Given the description of an element on the screen output the (x, y) to click on. 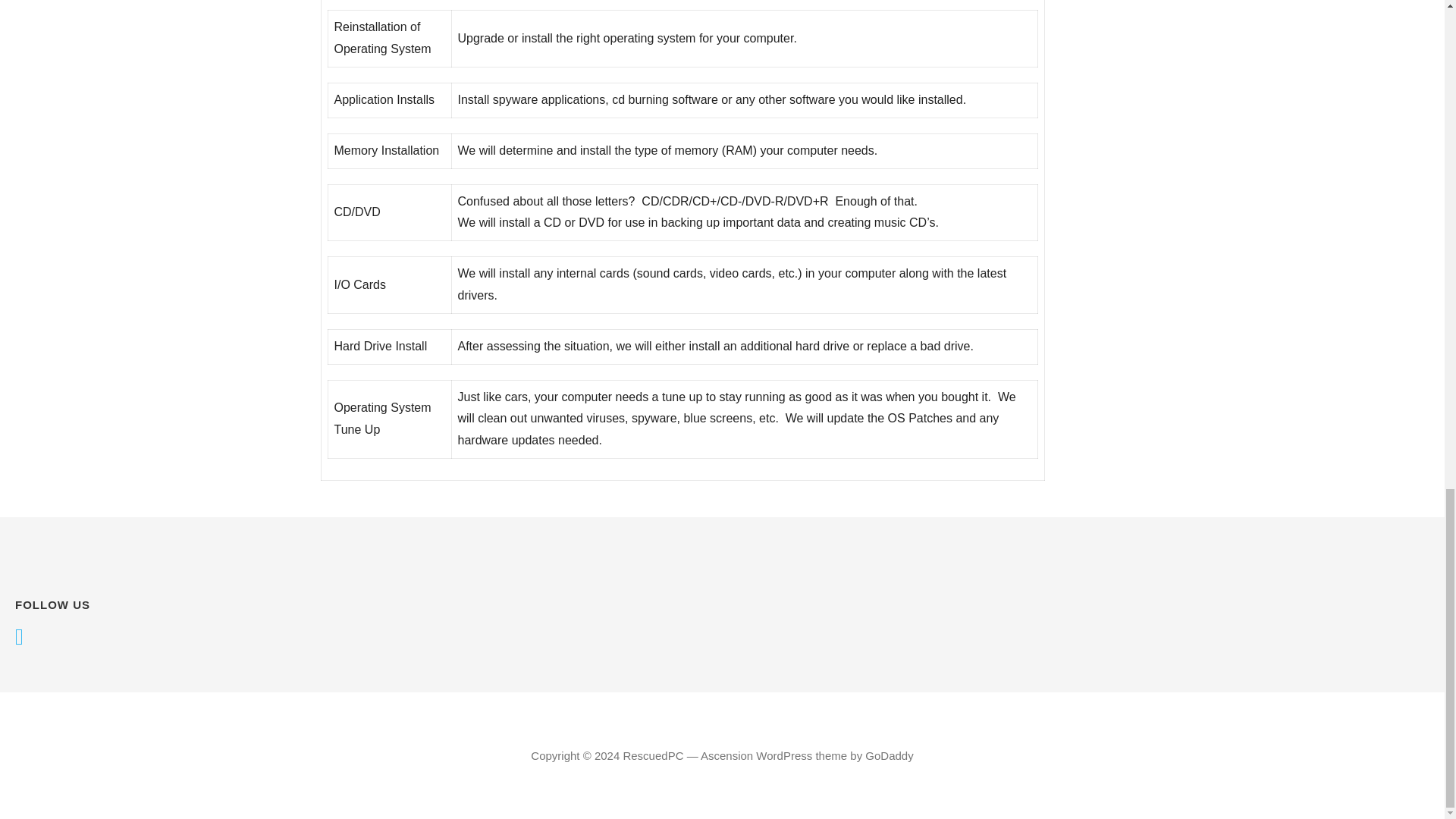
GoDaddy (888, 755)
